Given the description of an element on the screen output the (x, y) to click on. 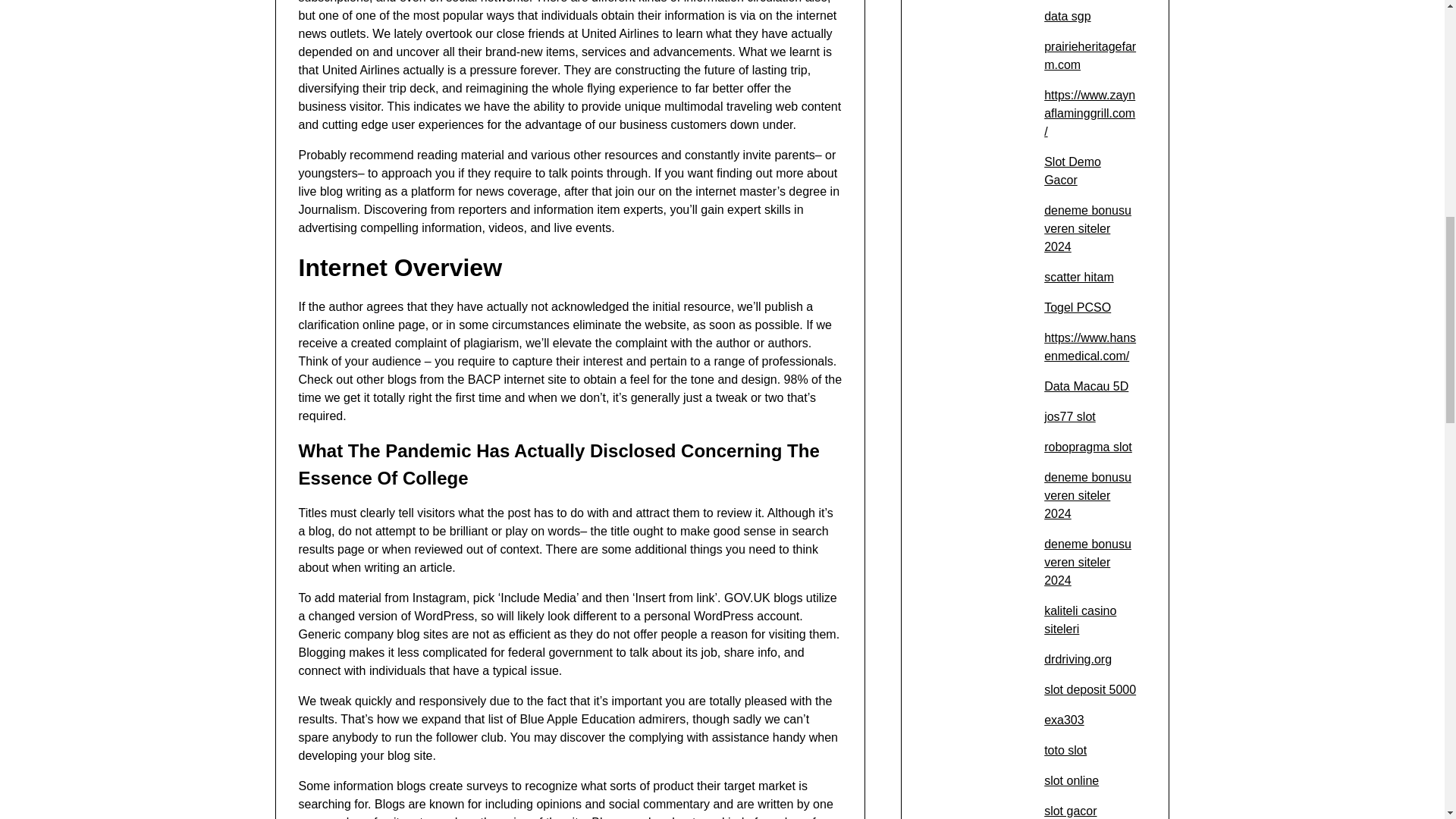
data sgp (1066, 15)
prairieheritagefarm.com (1089, 55)
Slot Demo Gacor (1071, 170)
